Given the description of an element on the screen output the (x, y) to click on. 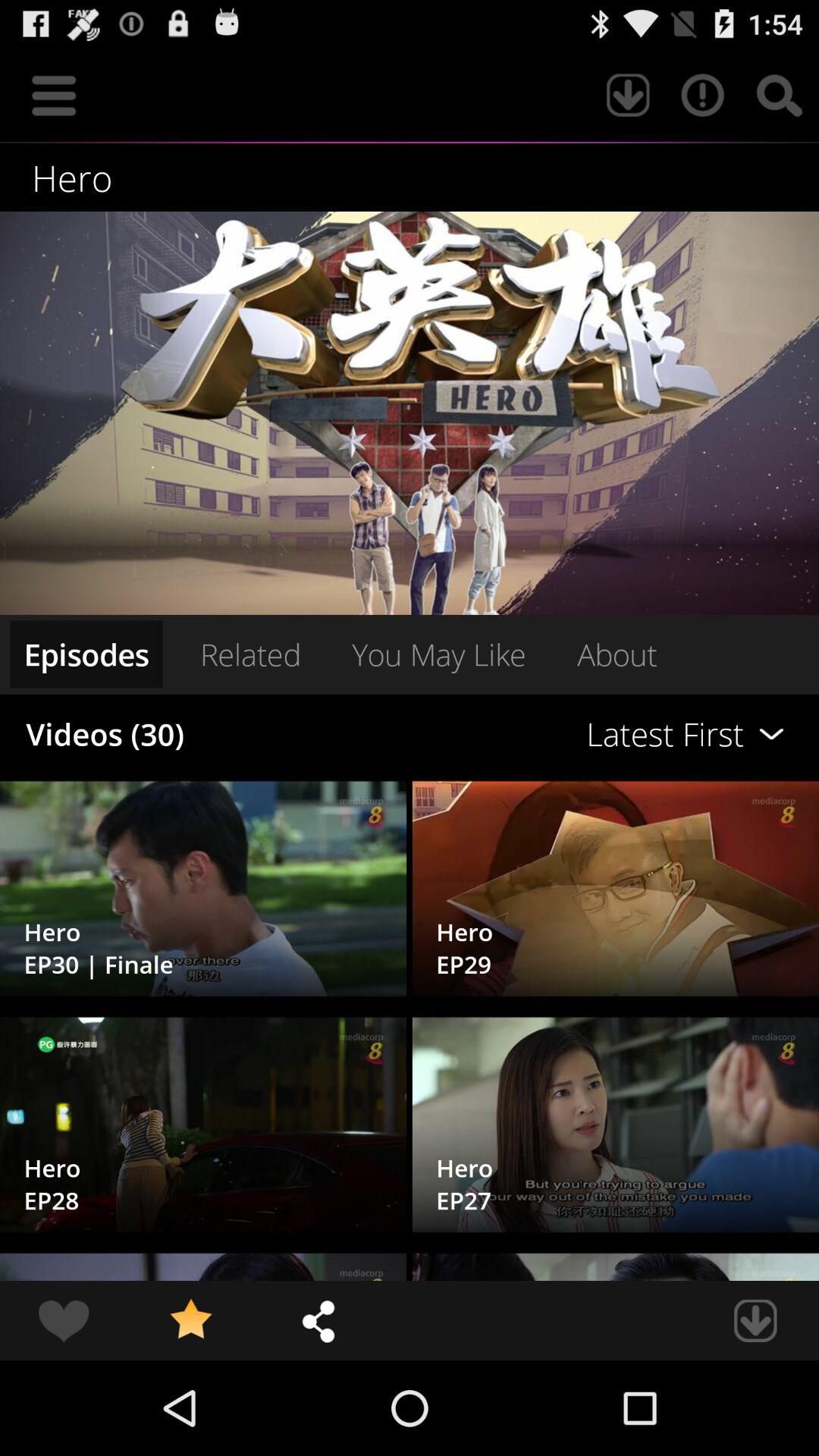
press the you may like (438, 654)
